Given the description of an element on the screen output the (x, y) to click on. 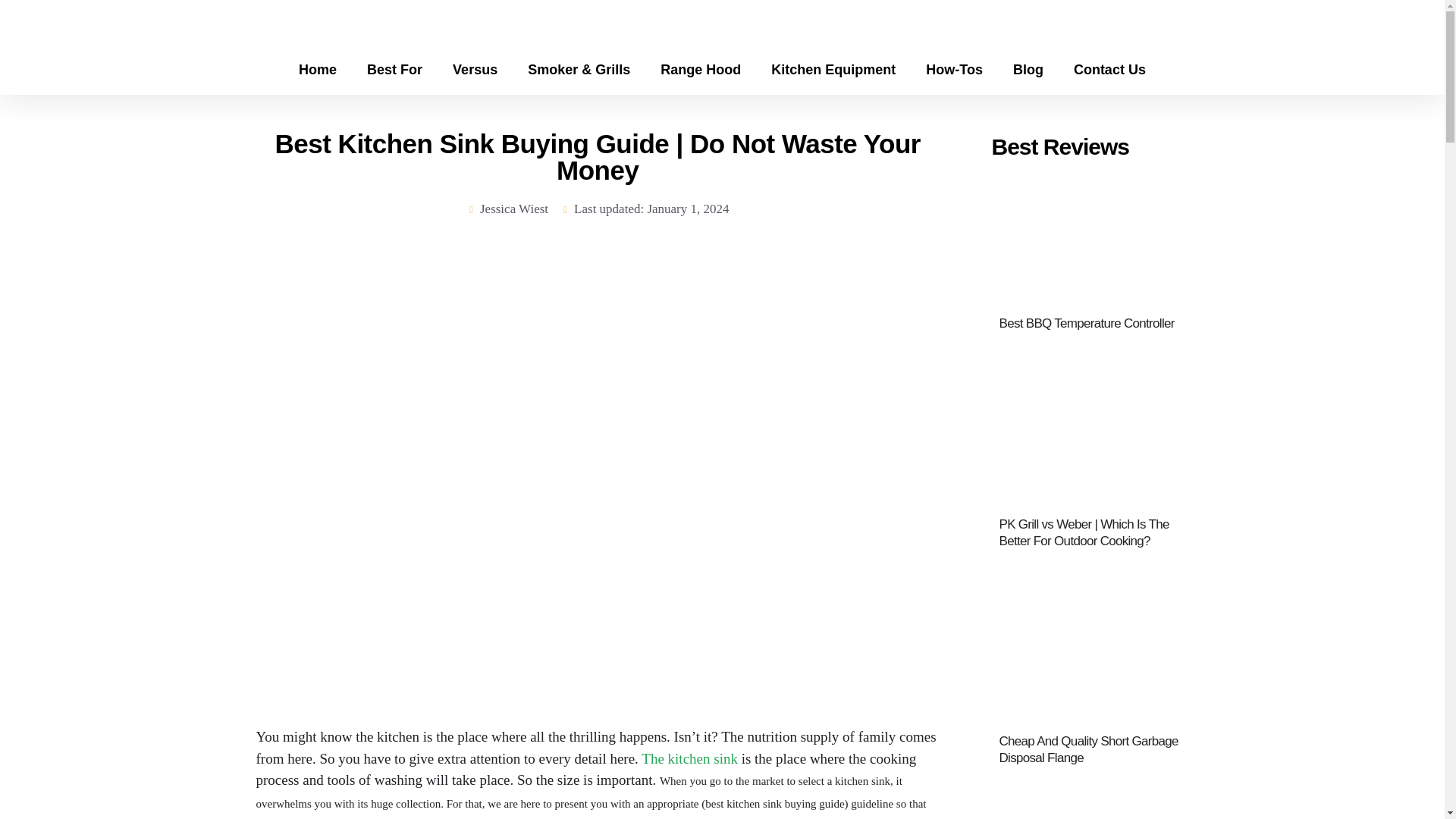
Home (317, 69)
Kitchen Equipment (833, 69)
Range Hood (700, 69)
How-Tos (954, 69)
Blog (1027, 69)
Best For (395, 69)
Contact Us (1109, 69)
Versus (475, 69)
